Given the description of an element on the screen output the (x, y) to click on. 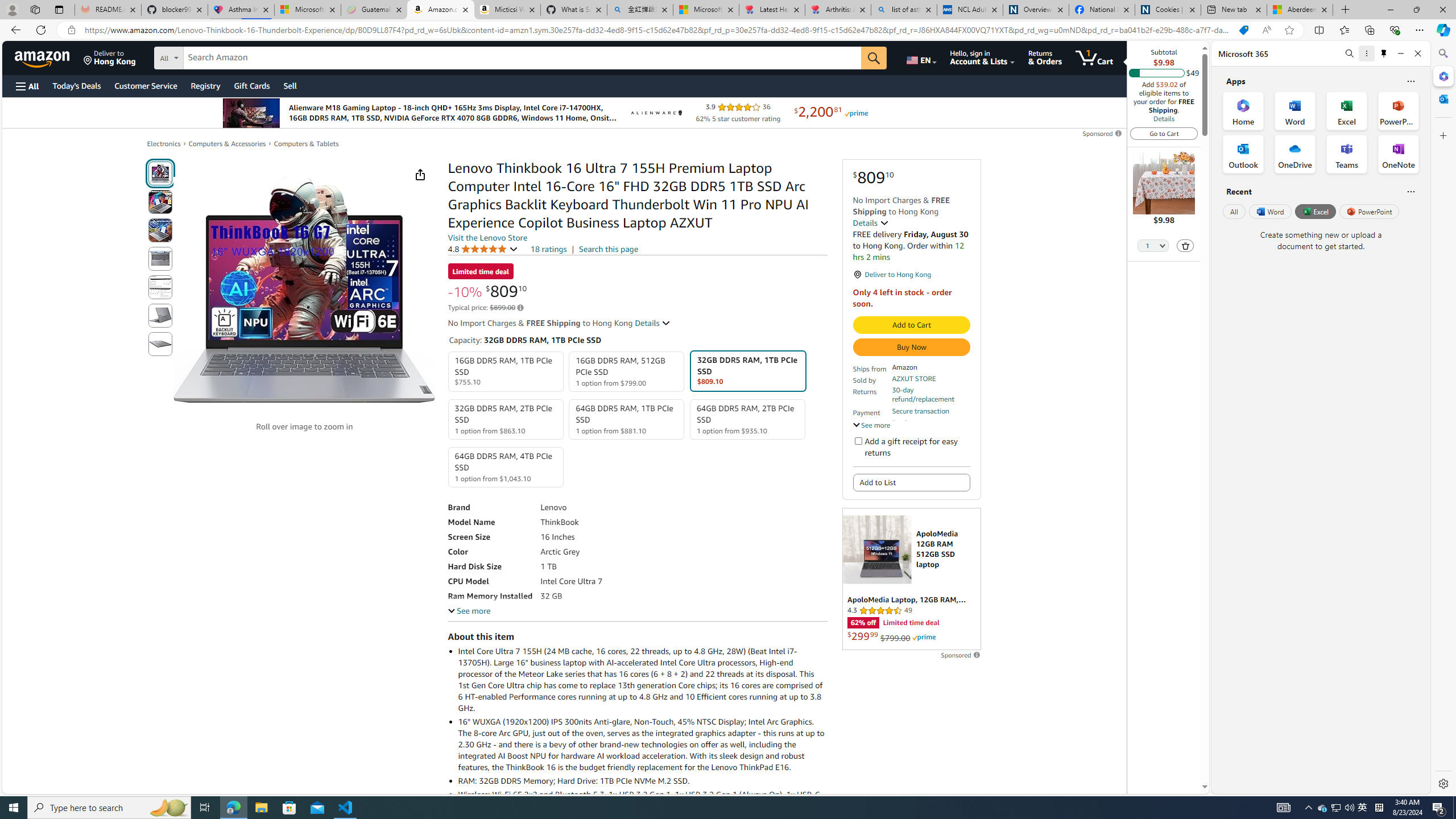
Excel Office App (1346, 110)
Computers & Tablets (306, 144)
Cookies | About | NICE (1167, 9)
Electronics (163, 144)
Search this page (608, 248)
18 ratings (547, 248)
Product support included (930, 427)
PowerPoint Office App (1398, 110)
